Given the description of an element on the screen output the (x, y) to click on. 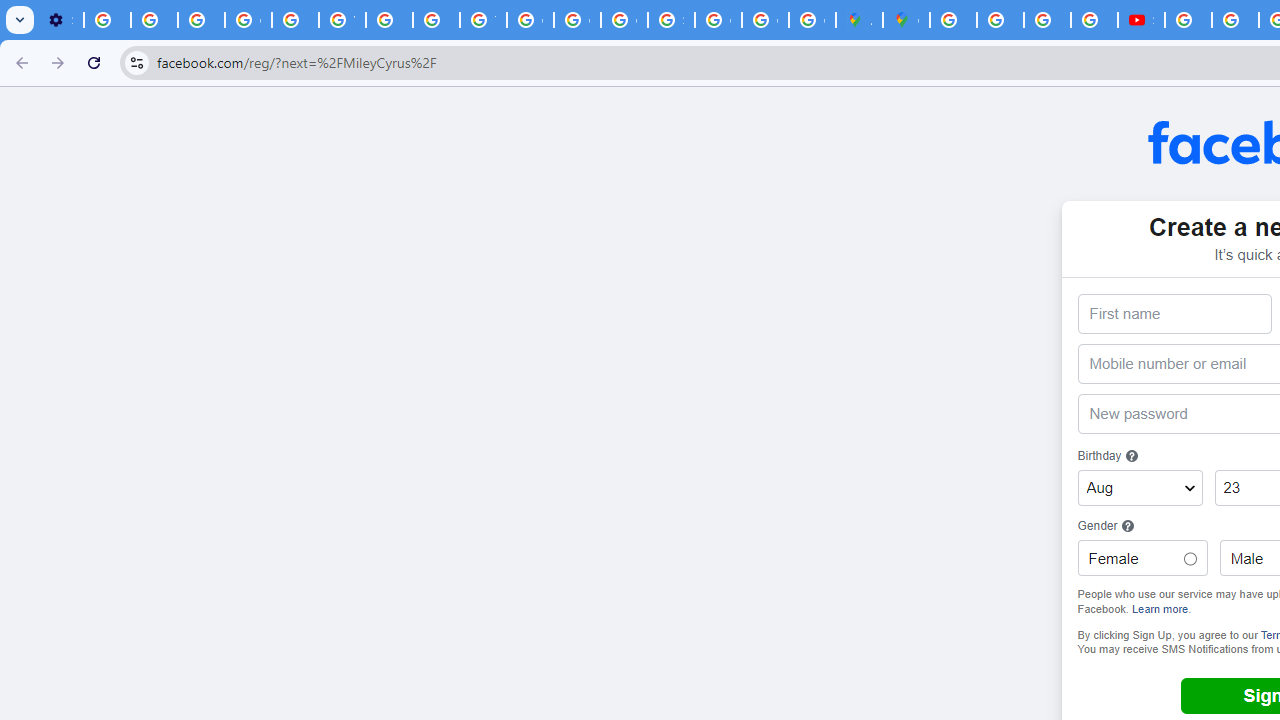
Blogger Policies and Guidelines - Transparency Center (953, 20)
How Chrome protects your passwords - Google Chrome Help (1188, 20)
Subscriptions - YouTube (1140, 20)
Privacy Help Center - Policies Help (999, 20)
First name (1174, 313)
Privacy Help Center - Policies Help (294, 20)
Privacy Help Center - Policies Help (436, 20)
